Given the description of an element on the screen output the (x, y) to click on. 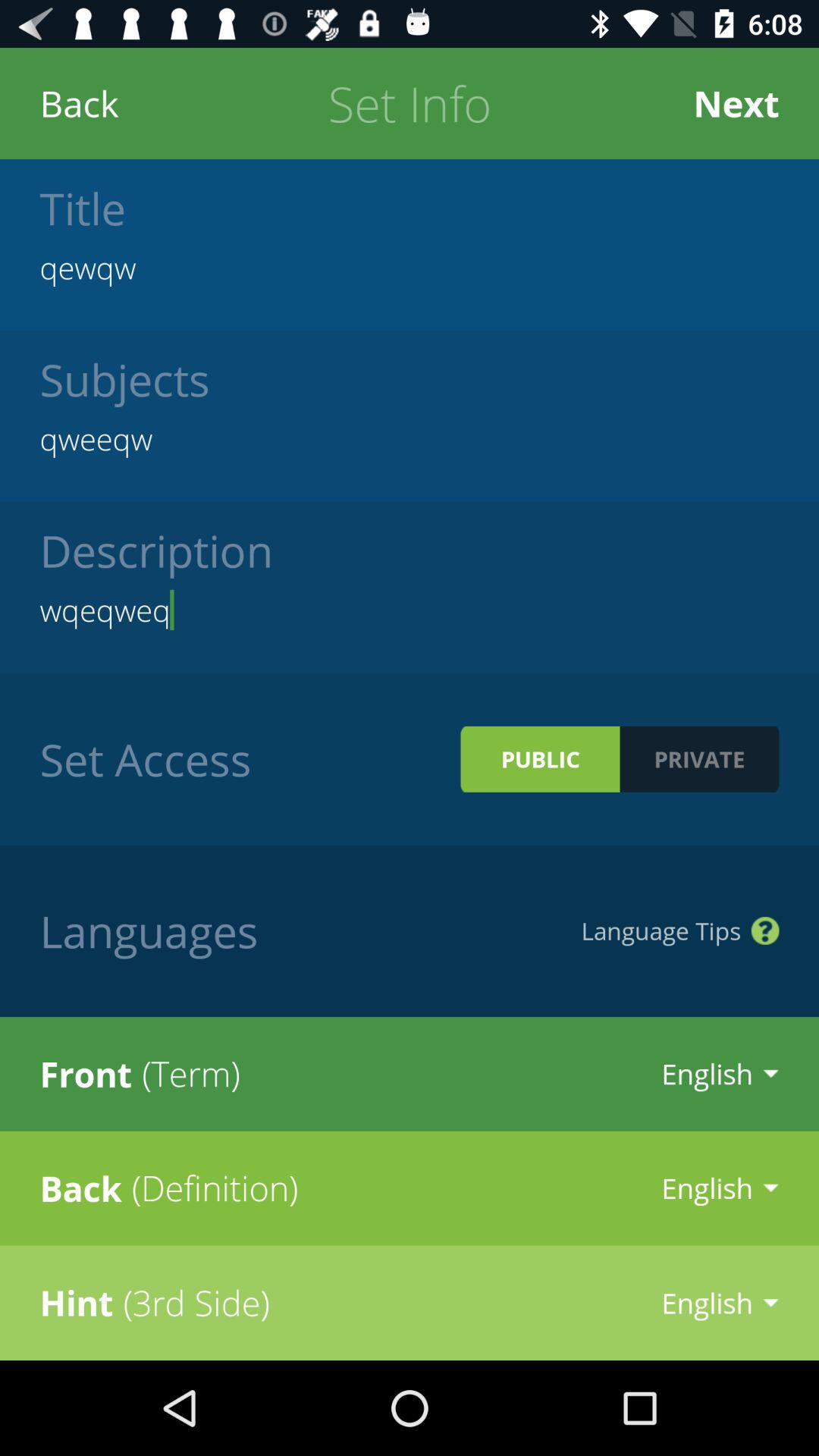
open item above the public icon (409, 609)
